Given the description of an element on the screen output the (x, y) to click on. 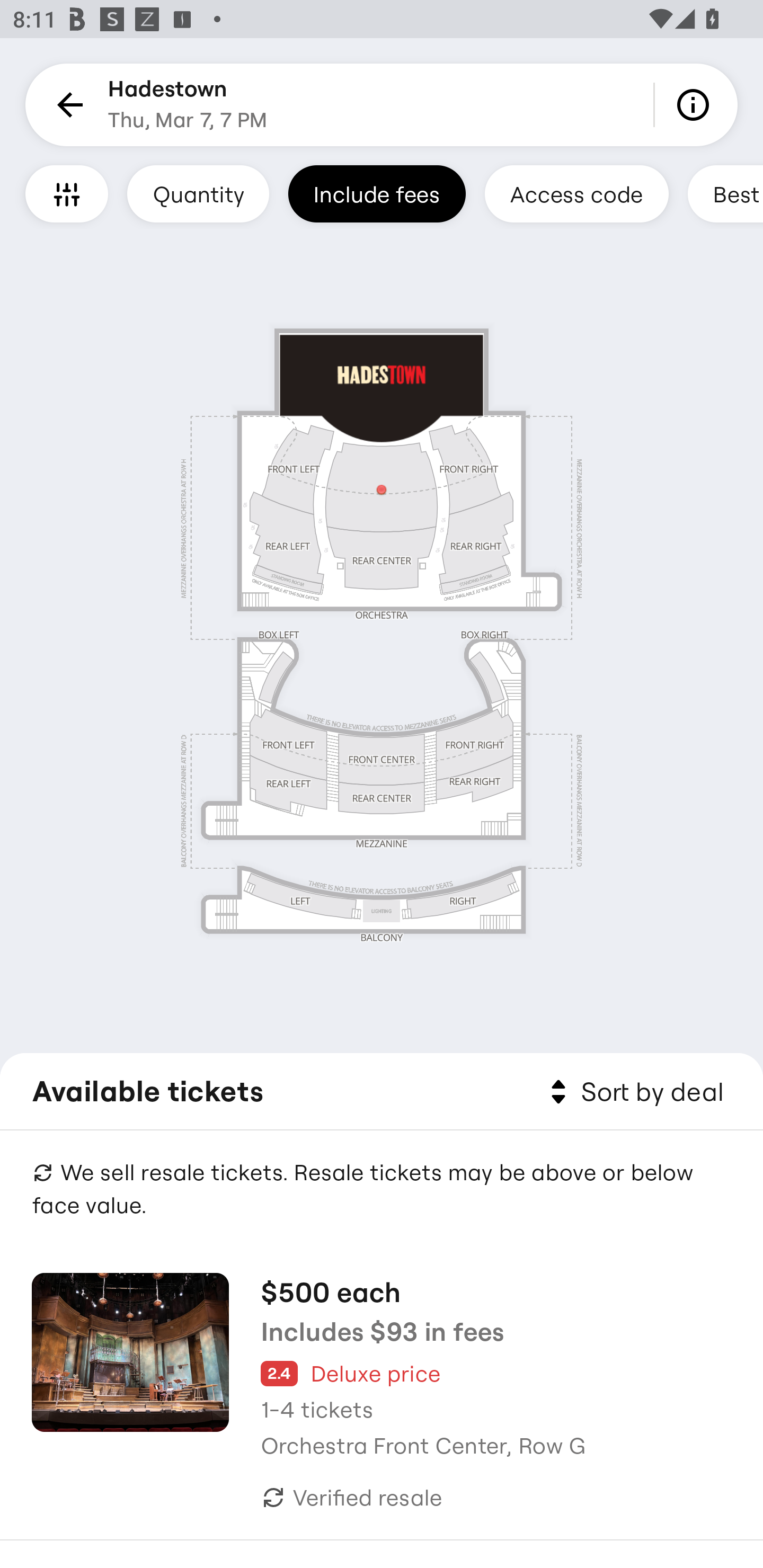
Back (66, 104)
Hadestown Thu, Mar 7, 7 PM (187, 104)
Info (695, 104)
Filters and Accessible Seating (66, 193)
Quantity (198, 193)
Include fees (376, 193)
Access code (576, 193)
Sort by deal (633, 1091)
